Given the description of an element on the screen output the (x, y) to click on. 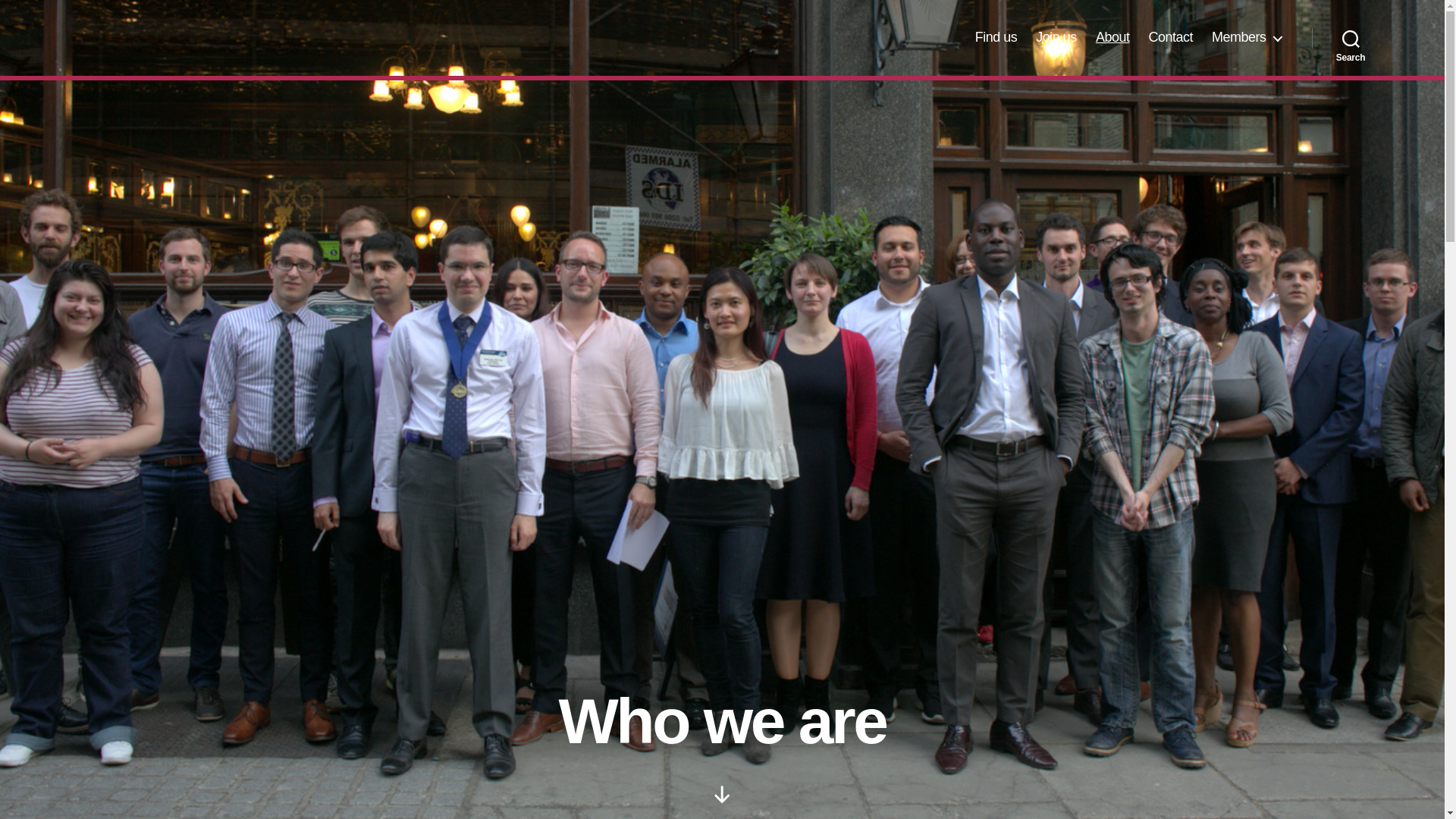
Contact (1170, 37)
Join us (1056, 37)
About (1112, 37)
Search (1350, 37)
Find us (996, 37)
Members (1246, 37)
